Given the description of an element on the screen output the (x, y) to click on. 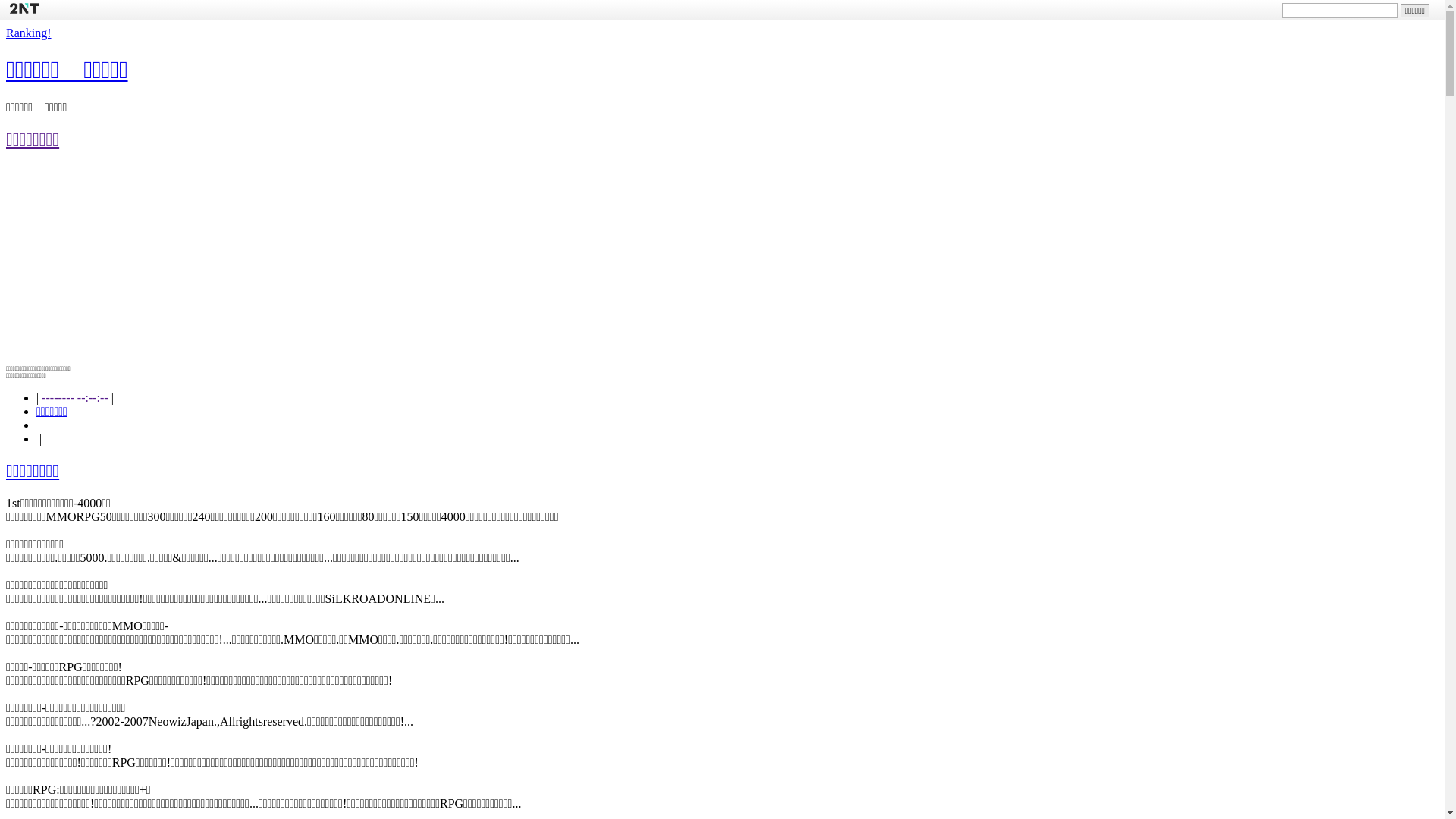
-------- --:--:-- Element type: text (74, 397)
Ranking! Element type: text (28, 32)
